Given the description of an element on the screen output the (x, y) to click on. 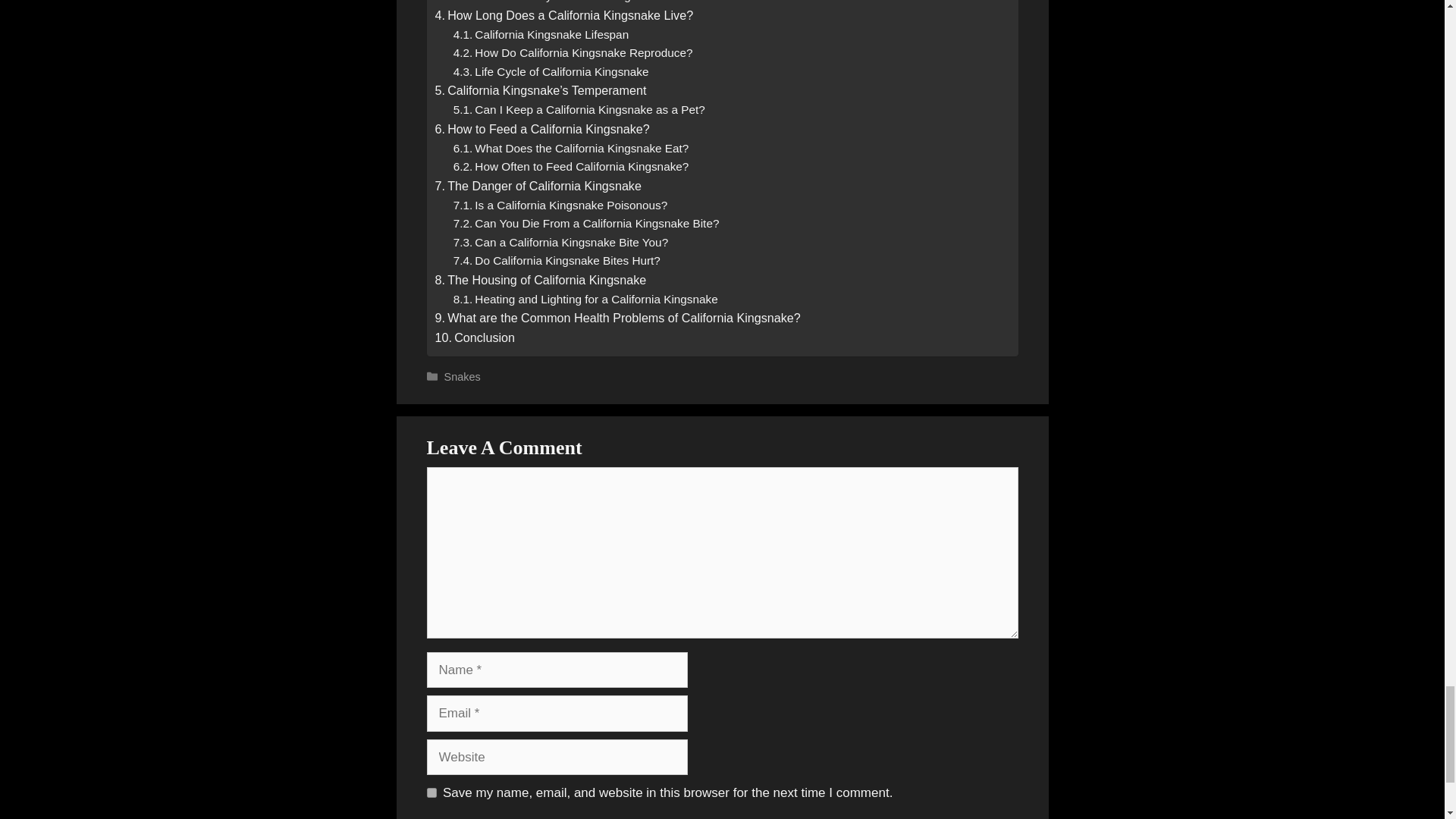
How to Identify California Kingsnake? (560, 2)
How Long Does a California Kingsnake Live? (564, 15)
How Often to Feed California Kingsnake? (570, 167)
California Kingsnake Lifespan (540, 35)
How Do California Kingsnake Reproduce? (572, 53)
California Kingsnake Lifespan (540, 35)
yes (430, 792)
How to Identify California Kingsnake? (560, 2)
How Long Does a California Kingsnake Live? (564, 15)
How to Feed a California Kingsnake? (542, 129)
Life Cycle of California Kingsnake (550, 72)
How to Feed a California Kingsnake? (542, 129)
What Does the California Kingsnake Eat? (570, 148)
Can I Keep a California Kingsnake as a Pet? (578, 109)
How Do California Kingsnake Reproduce? (572, 53)
